Given the description of an element on the screen output the (x, y) to click on. 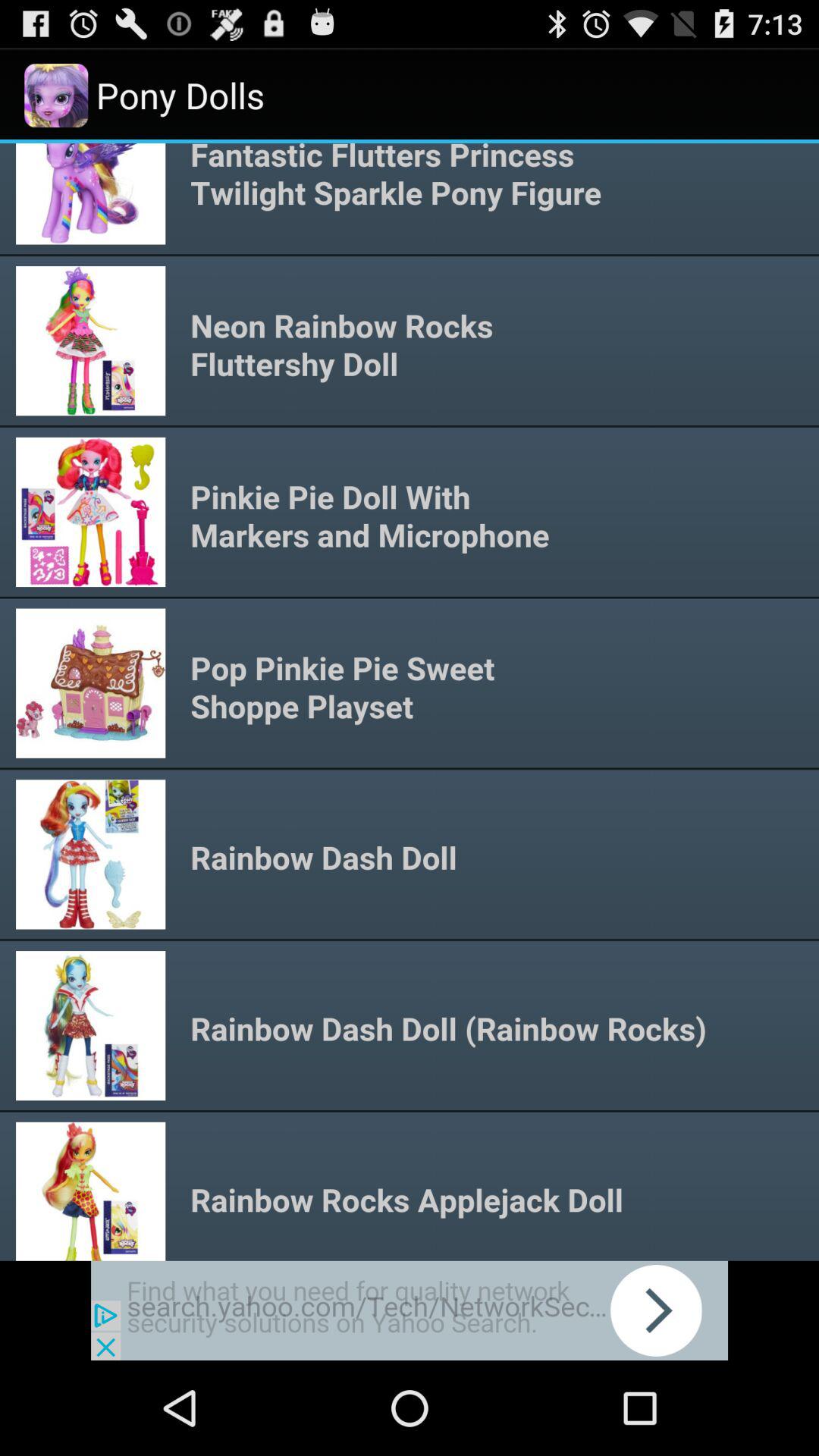
select song (409, 701)
